Given the description of an element on the screen output the (x, y) to click on. 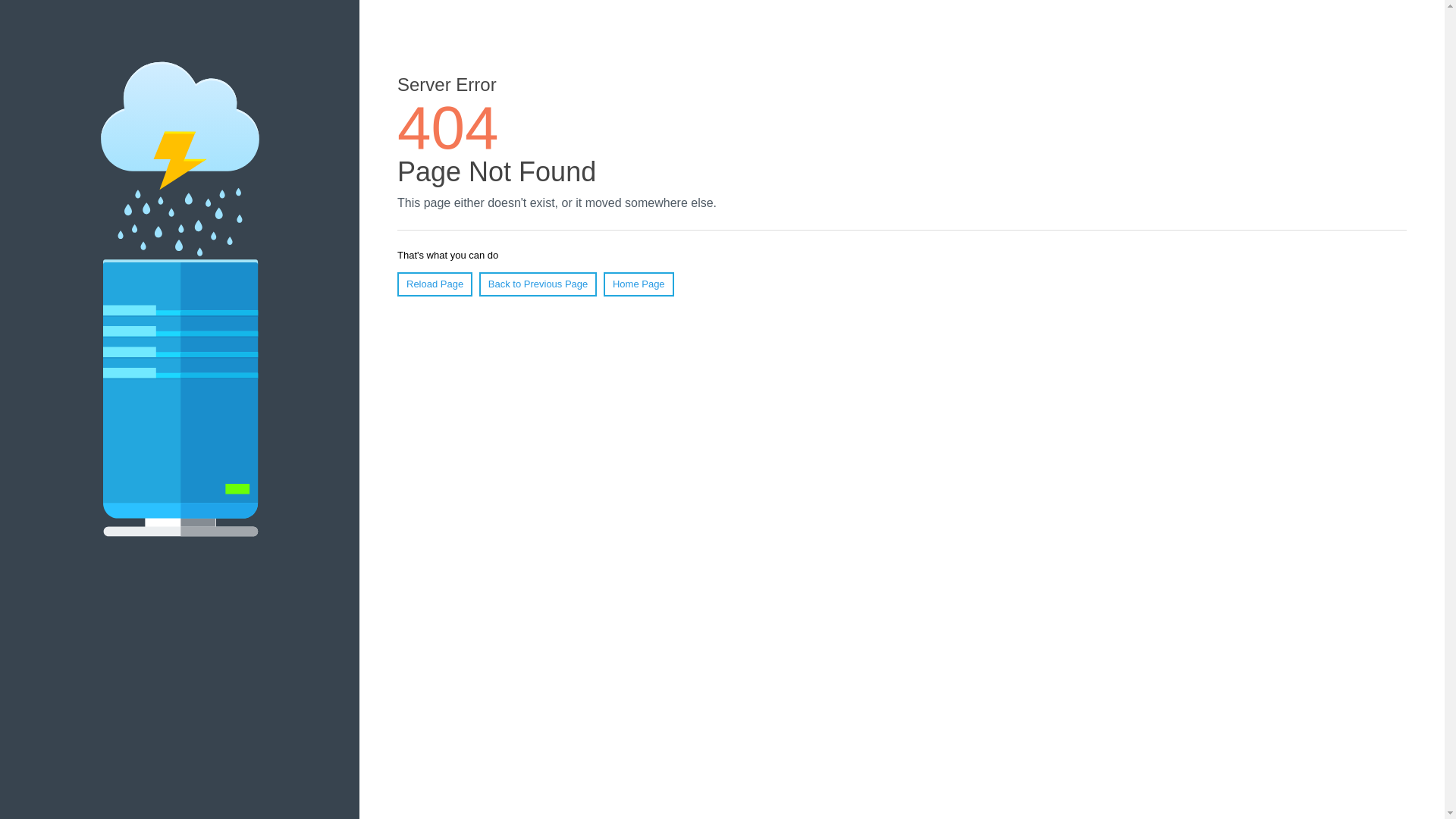
Back to Previous Page Element type: text (538, 284)
Home Page Element type: text (638, 284)
Reload Page Element type: text (434, 284)
